Given the description of an element on the screen output the (x, y) to click on. 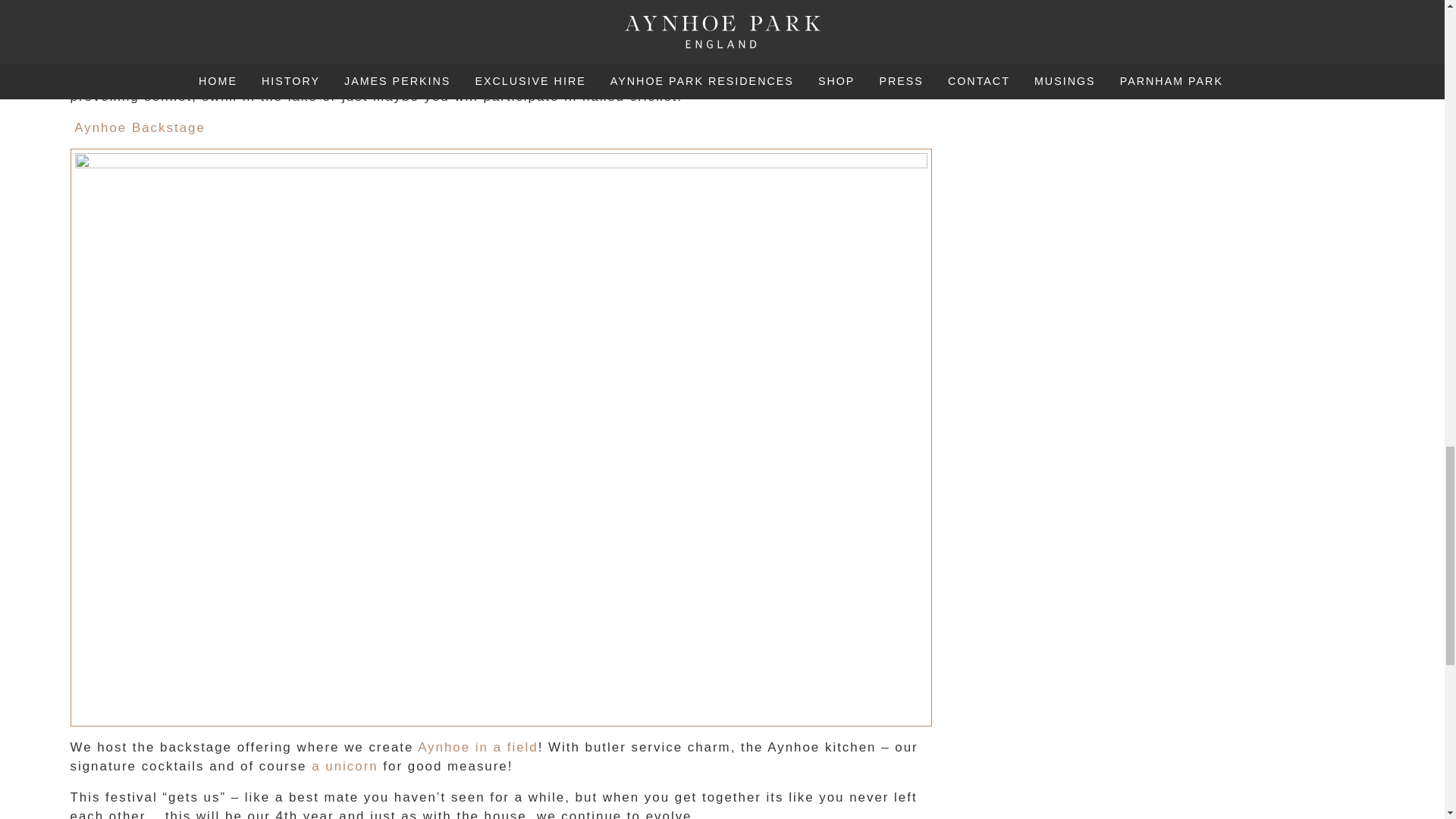
Aynhoe in a field (477, 747)
a unicorn (344, 766)
HotBox (515, 77)
Petersham Nurseries (391, 77)
Aynhoe Backstage (139, 127)
